Given the description of an element on the screen output the (x, y) to click on. 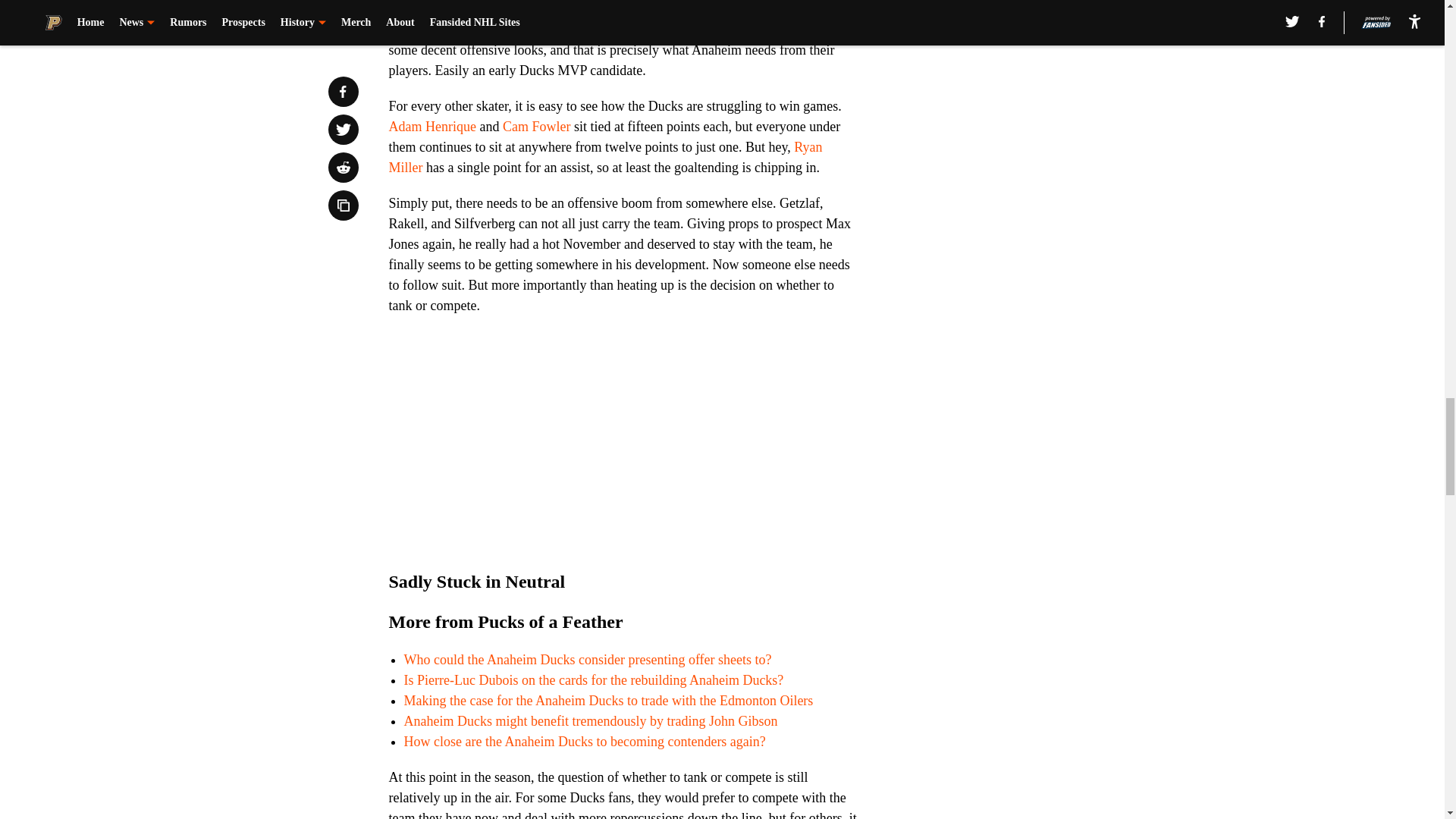
Ryan Miller (605, 157)
Cam Fowler (536, 126)
Adam Henrique (432, 126)
